Given the description of an element on the screen output the (x, y) to click on. 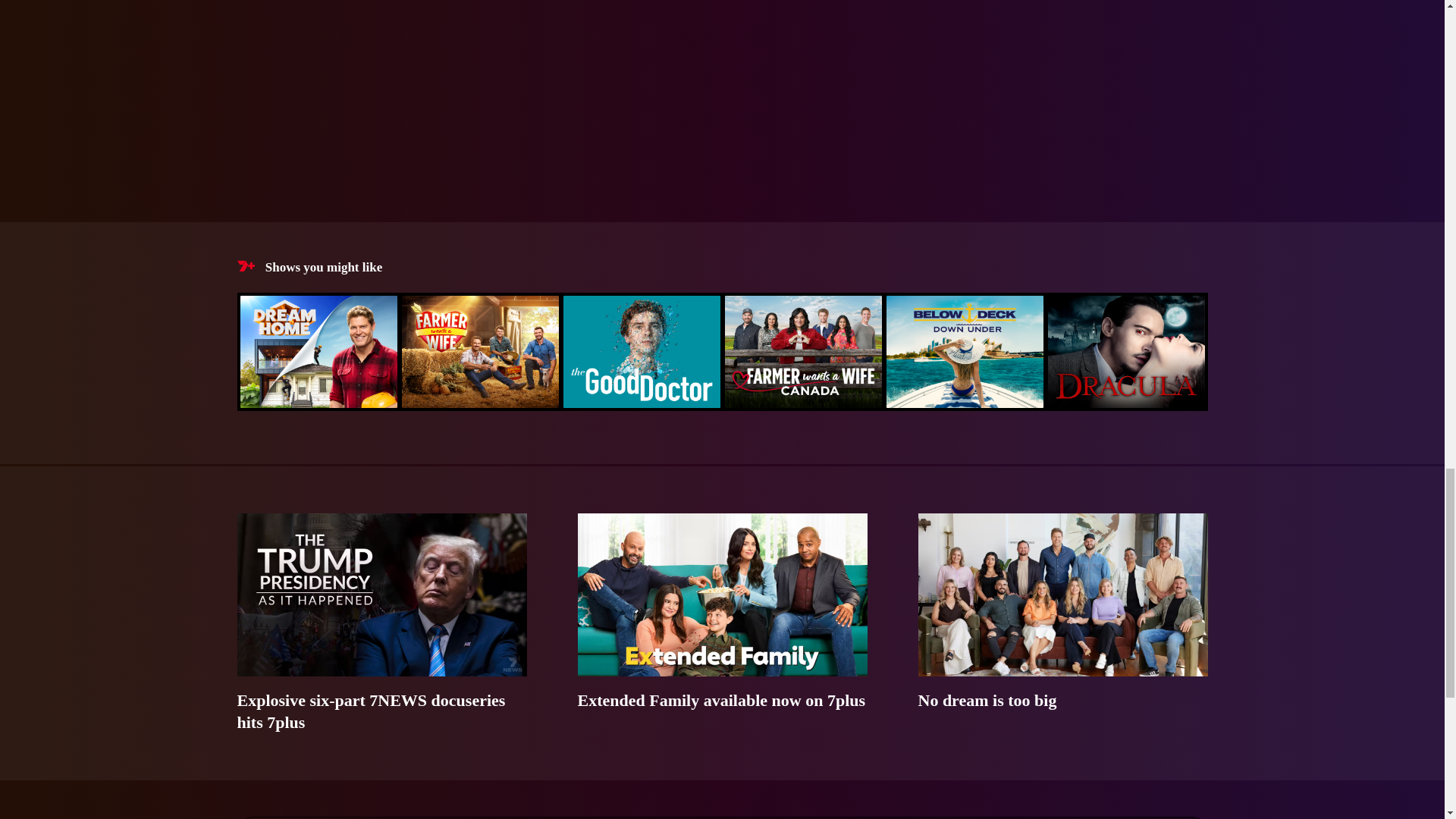
No dream is too big (1062, 623)
Extended Family available now on 7plus (722, 623)
home (721, 81)
Explosive six-part 7NEWS docuseries hits 7plus (380, 623)
